Given the description of an element on the screen output the (x, y) to click on. 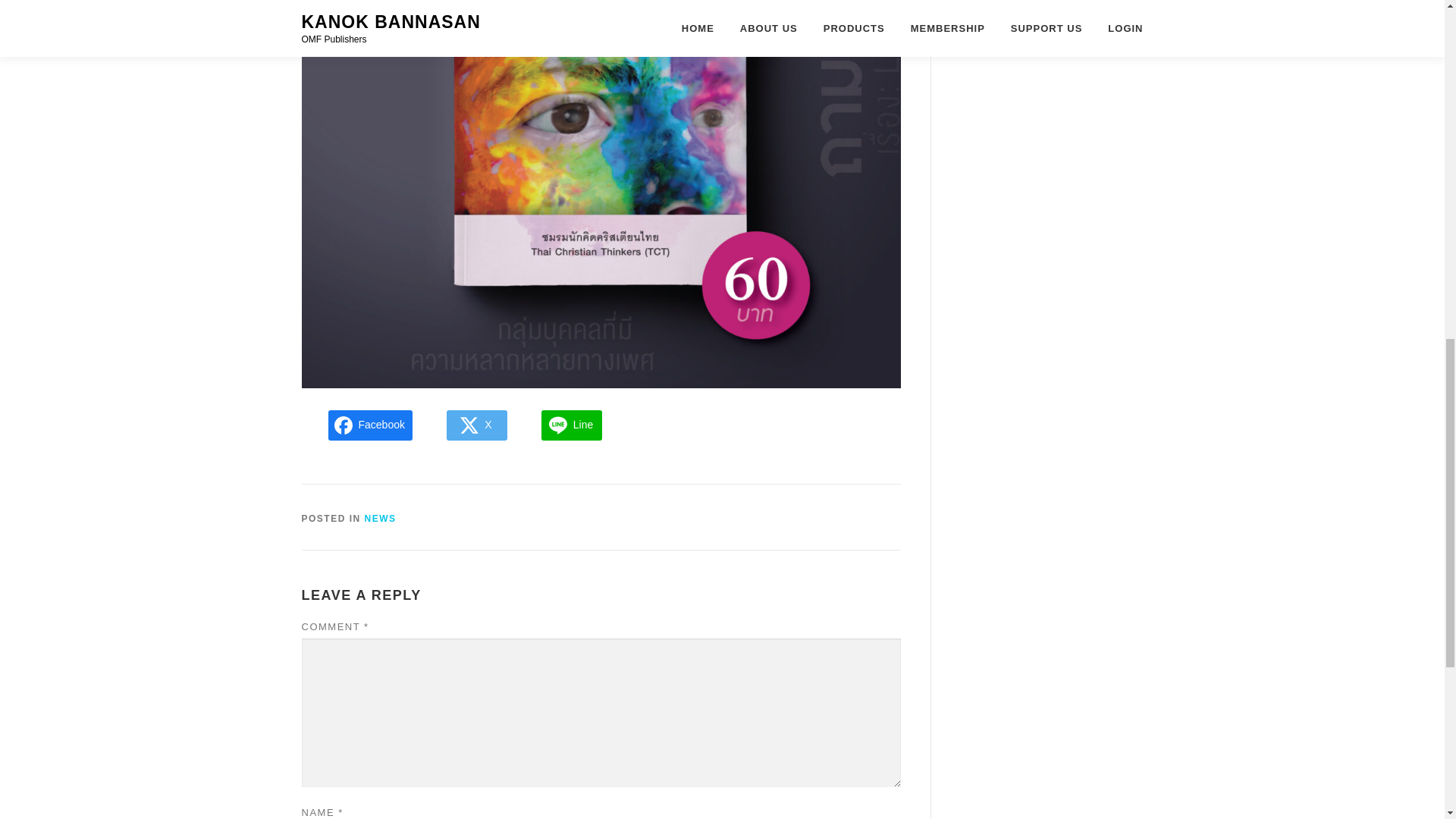
Facebook (369, 425)
Line (571, 425)
X (476, 425)
NEWS (380, 518)
